Given the description of an element on the screen output the (x, y) to click on. 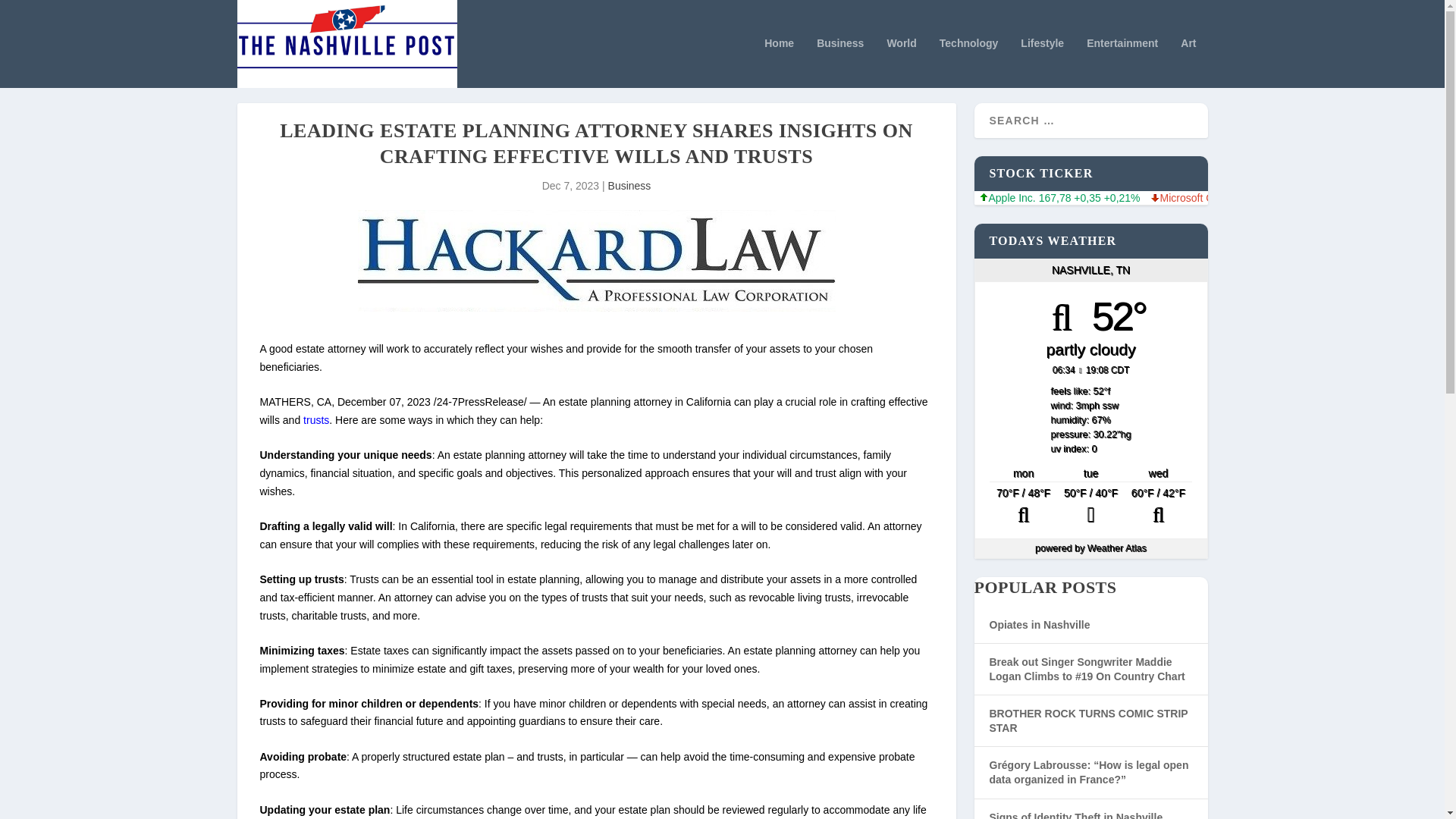
Business (839, 61)
Rain (1090, 506)
Partly Cloudy (1158, 506)
Mostly Cloudy (1023, 506)
trusts (315, 419)
Entertainment (1121, 61)
Business (629, 185)
Technology (968, 61)
